Given the description of an element on the screen output the (x, y) to click on. 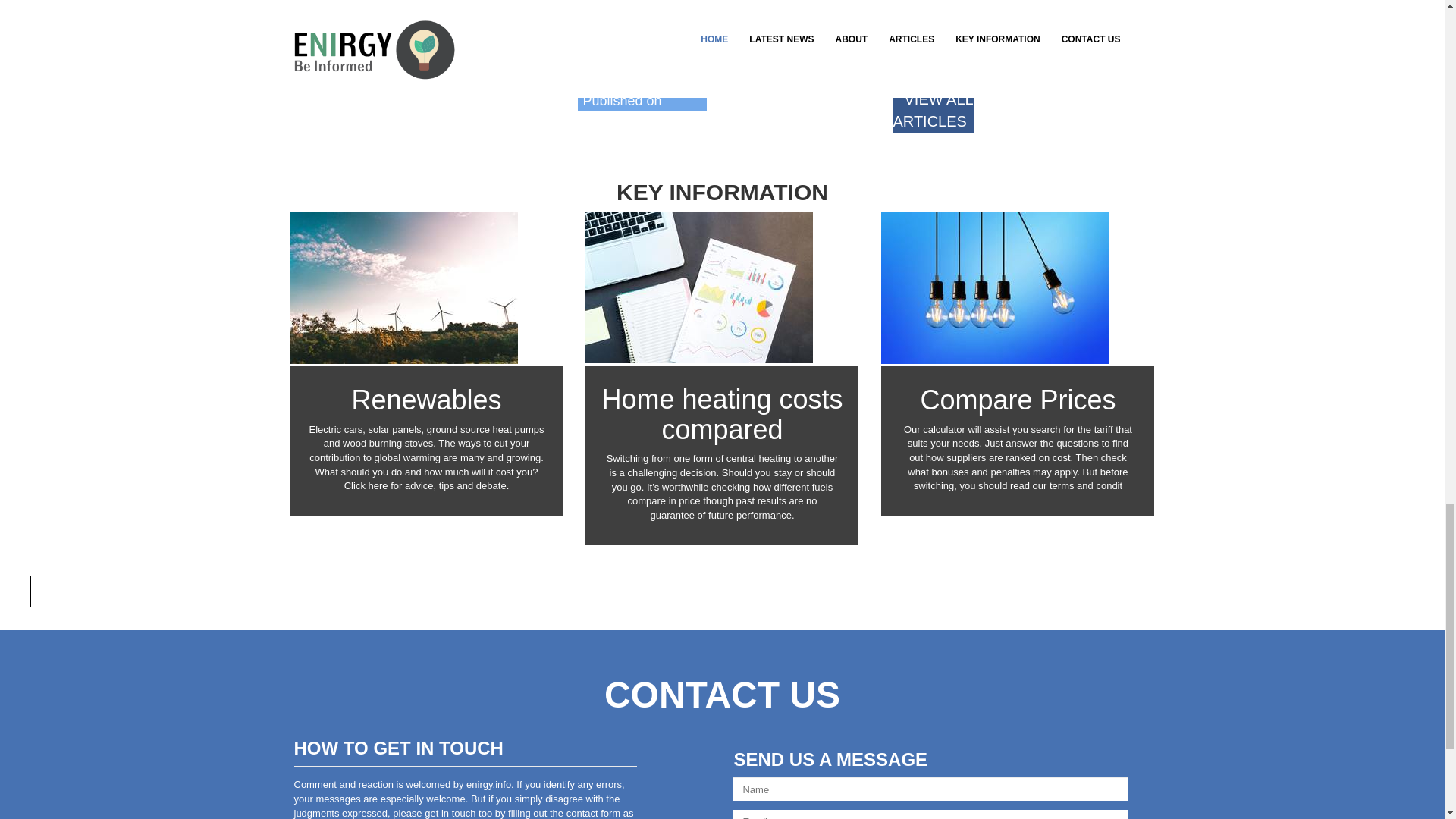
Home heating costs compared (722, 414)
Compare Prices (1017, 399)
VIEW ALL ARTICLES (933, 109)
Renewables (425, 399)
